Given the description of an element on the screen output the (x, y) to click on. 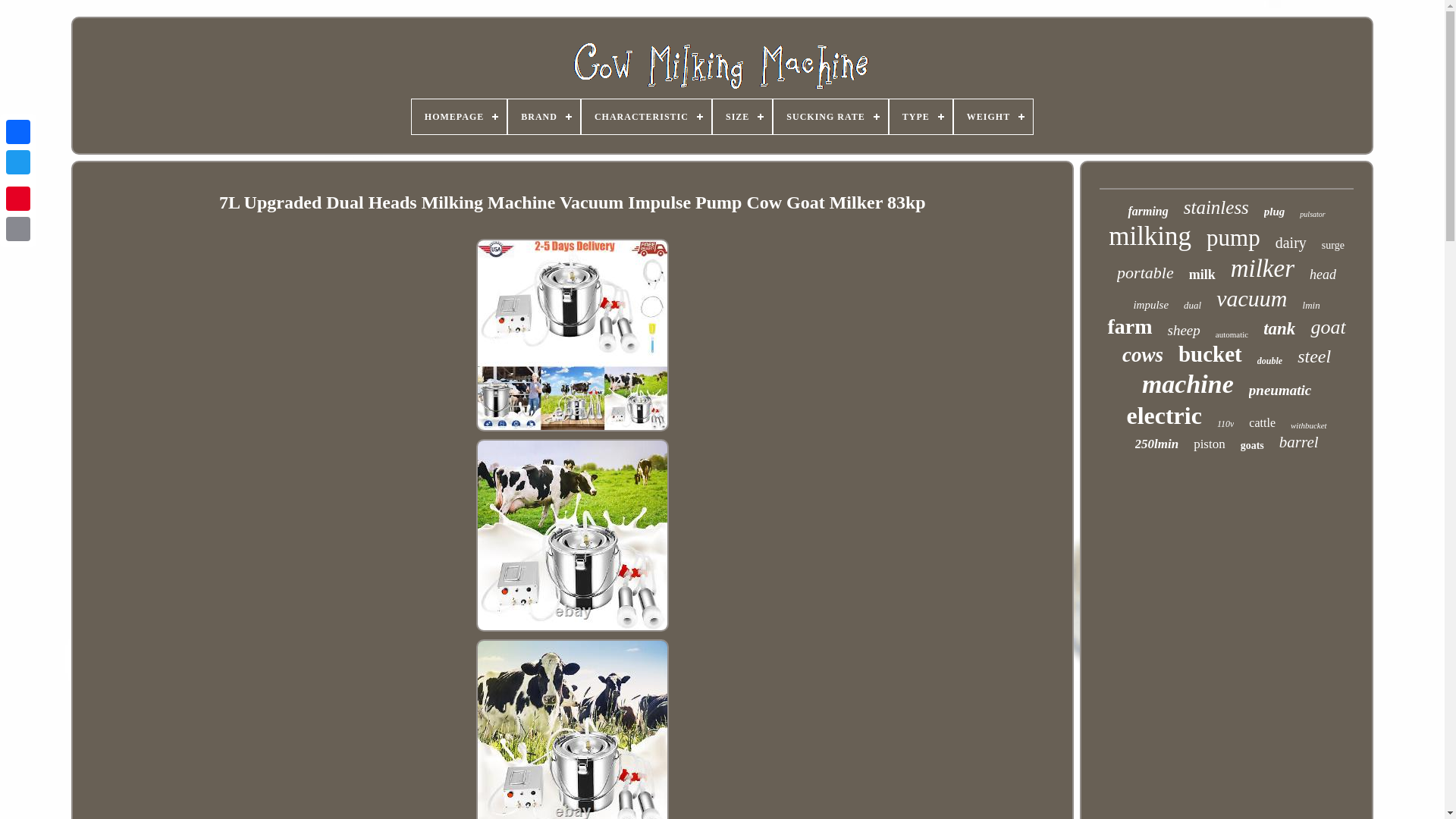
HOMEPAGE (459, 116)
BRAND (543, 116)
SIZE (742, 116)
CHARACTERISTIC (645, 116)
